Given the description of an element on the screen output the (x, y) to click on. 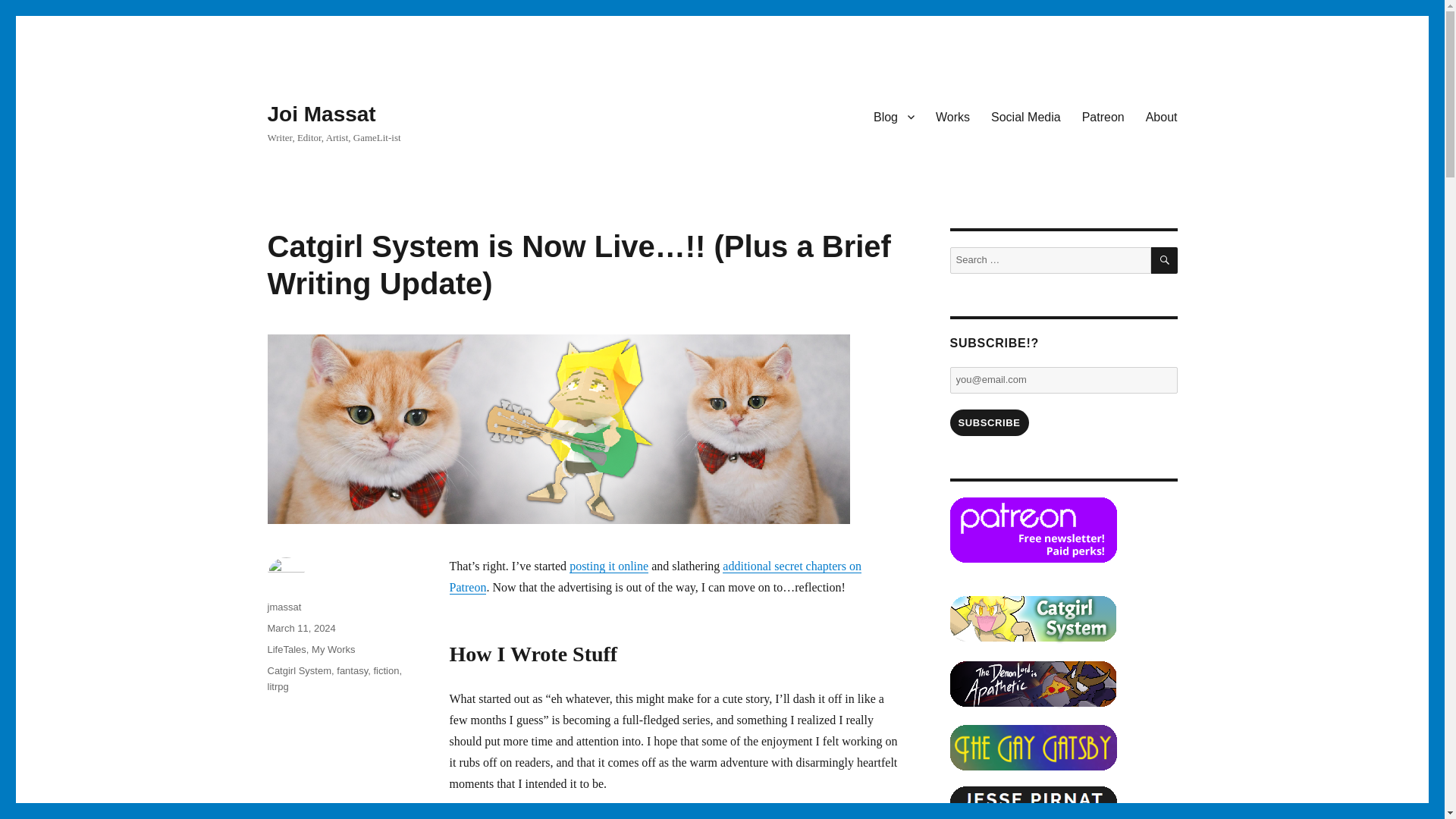
March 11, 2024 (300, 627)
Works (951, 116)
Patreon (1103, 116)
Blog (893, 116)
posting it online (608, 565)
SEARCH (1164, 260)
Joi Massat (320, 114)
litrpg (277, 686)
fantasy (352, 670)
additional secret chapters on Patreon (654, 576)
